Given the description of an element on the screen output the (x, y) to click on. 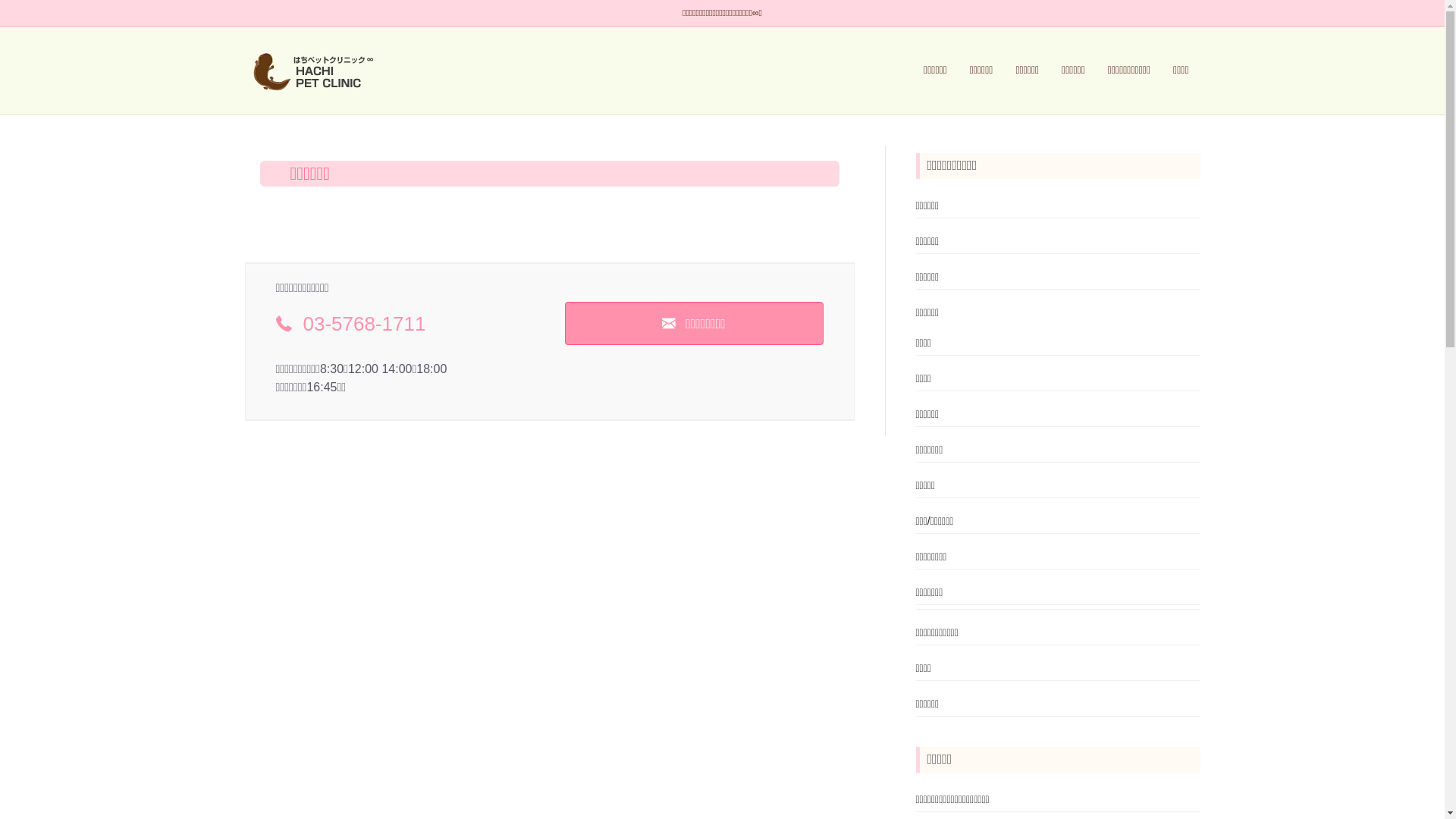
03-5768-1711 Element type: text (364, 323)
